Given the description of an element on the screen output the (x, y) to click on. 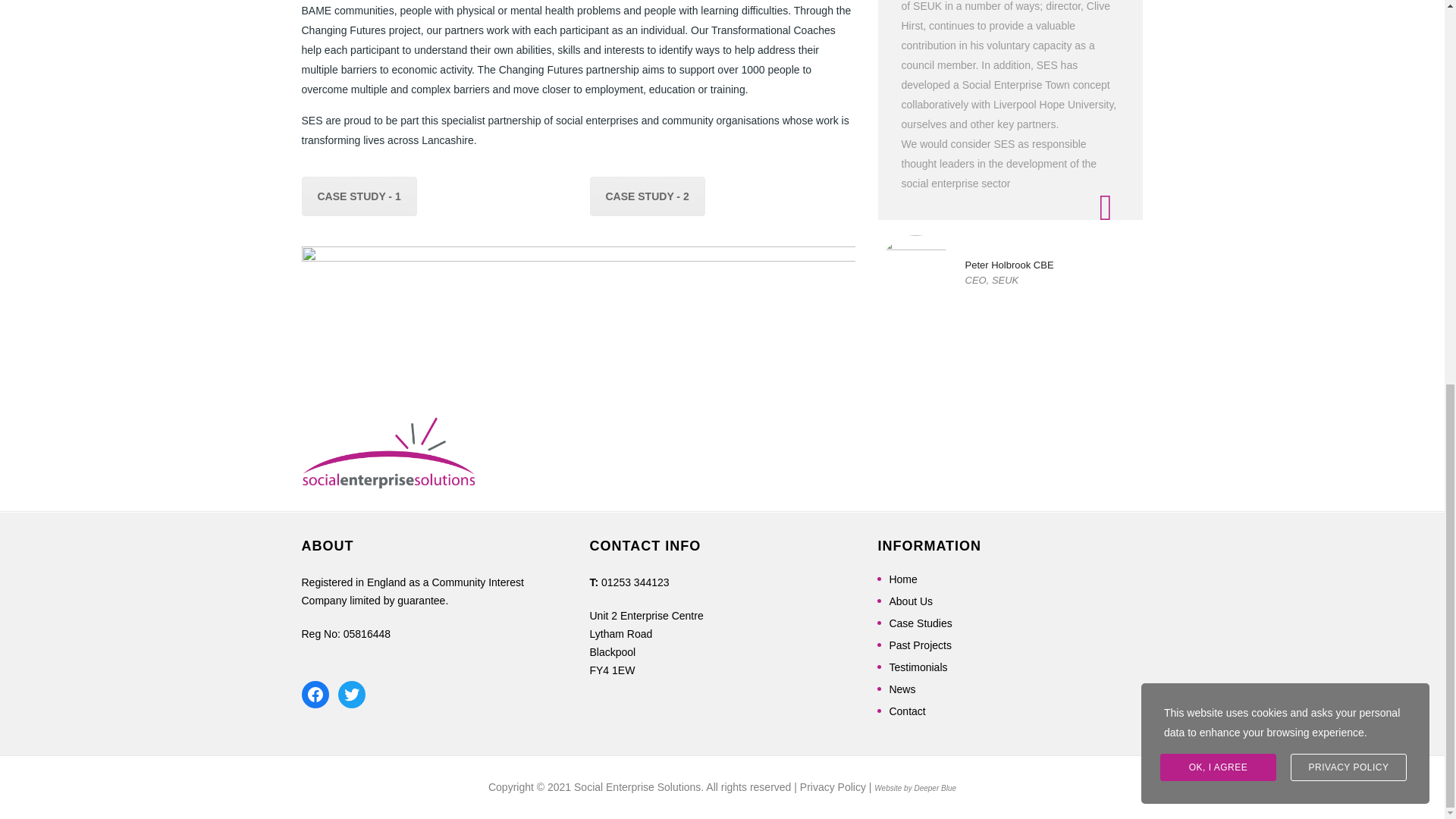
Facebook (315, 694)
OK, I AGREE (1218, 45)
About Us (910, 601)
PRIVACY POLICY (1348, 45)
Changing Futures ESF BLF (578, 297)
Contact (906, 711)
Case Studies (920, 623)
CASE STUDY - 1 (358, 196)
Testimonials (917, 666)
Past Projects (919, 645)
Privacy Policy (832, 787)
Home (902, 579)
CASE STUDY - 2 (646, 196)
News (901, 689)
Deeper Blue (935, 787)
